Given the description of an element on the screen output the (x, y) to click on. 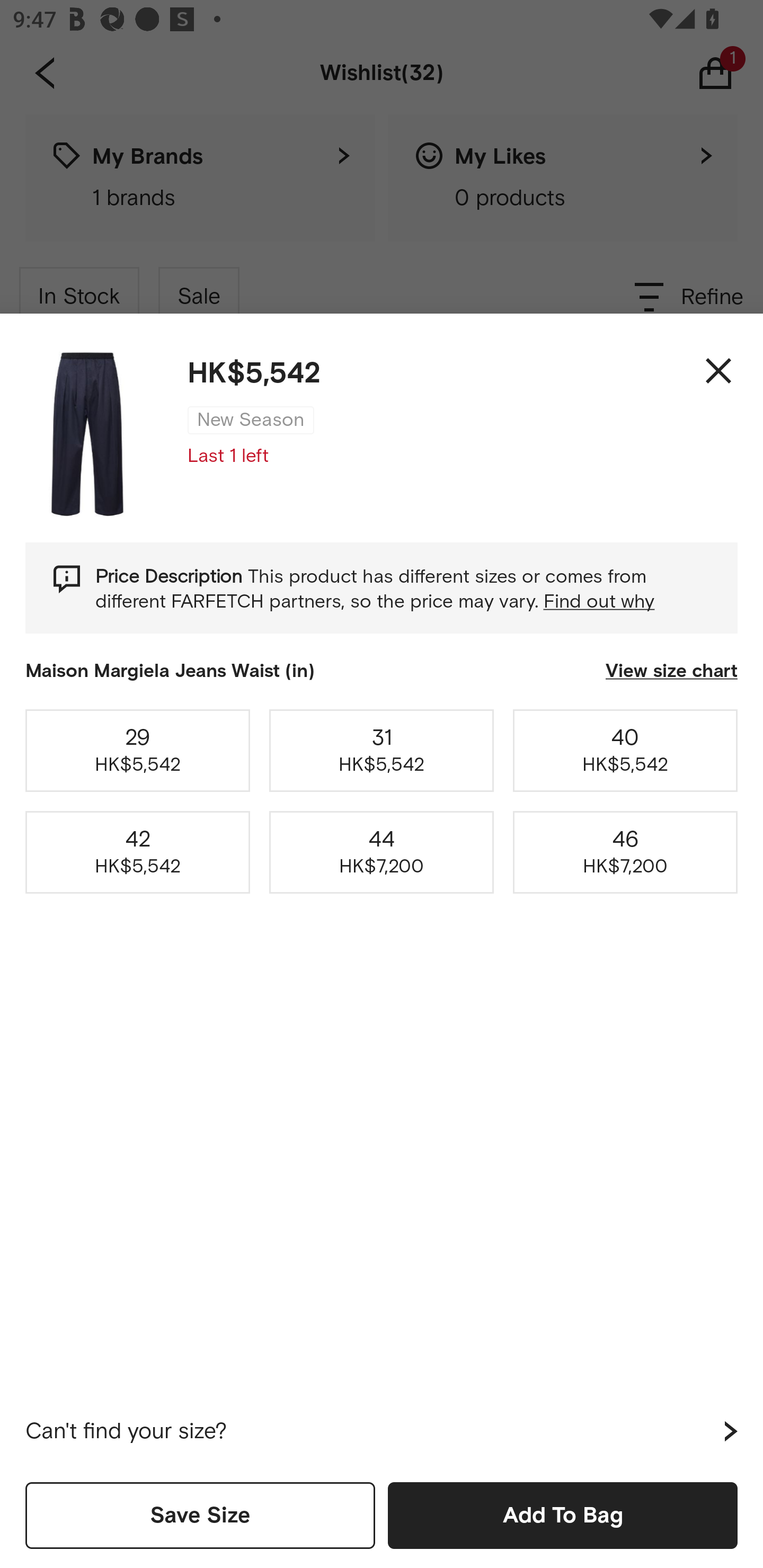
29 HK$5,542 (137, 749)
31 HK$5,542 (381, 749)
40 HK$5,542 (624, 749)
42 HK$5,542 (137, 851)
44 HK$7,200 (381, 851)
46 HK$7,200 (624, 851)
Can't find your size? (381, 1431)
Save Size (200, 1515)
Add To Bag (562, 1515)
